Given the description of an element on the screen output the (x, y) to click on. 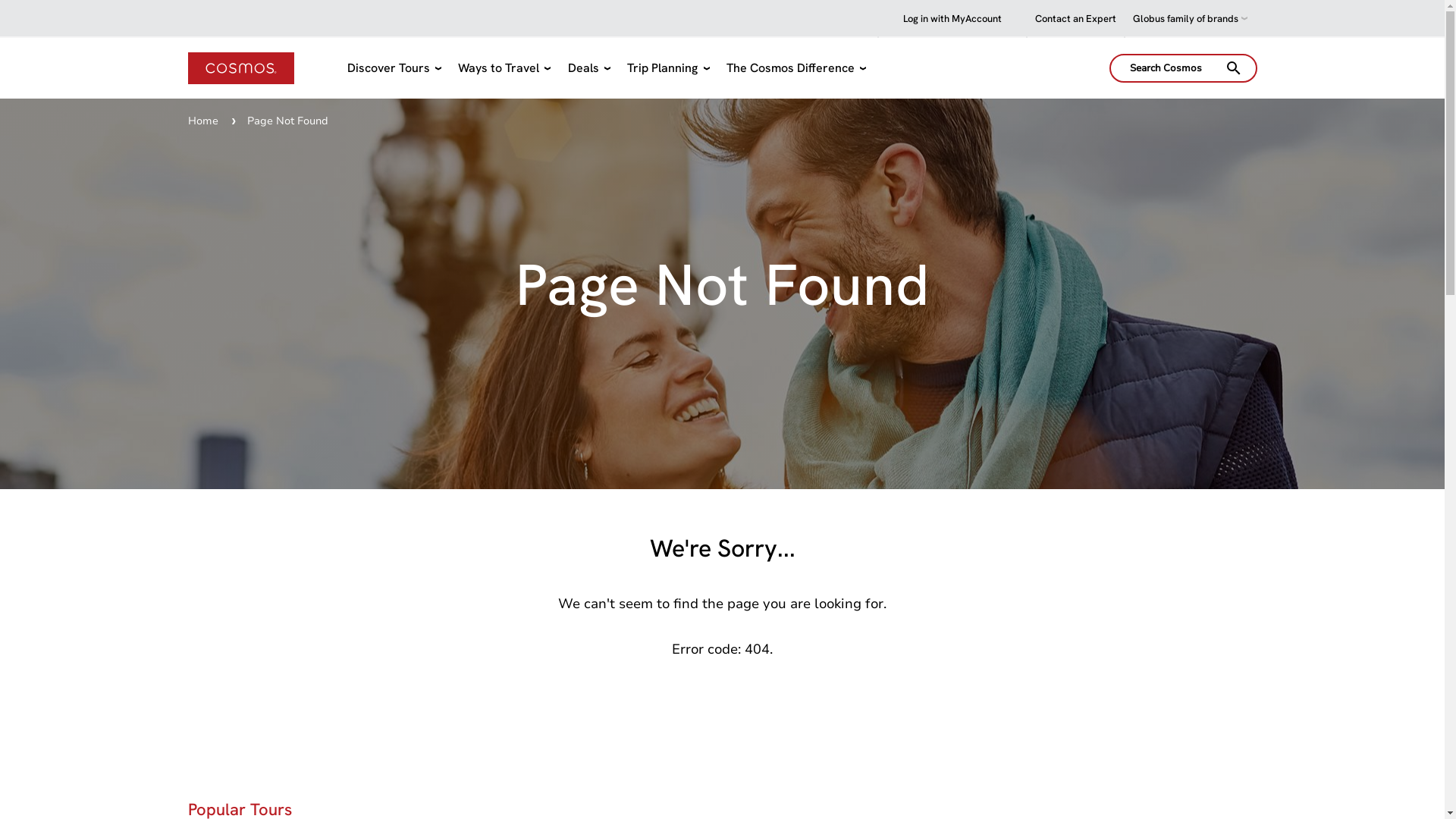
Contact an Expert Element type: text (1075, 18)
Home Element type: text (203, 120)
